Given the description of an element on the screen output the (x, y) to click on. 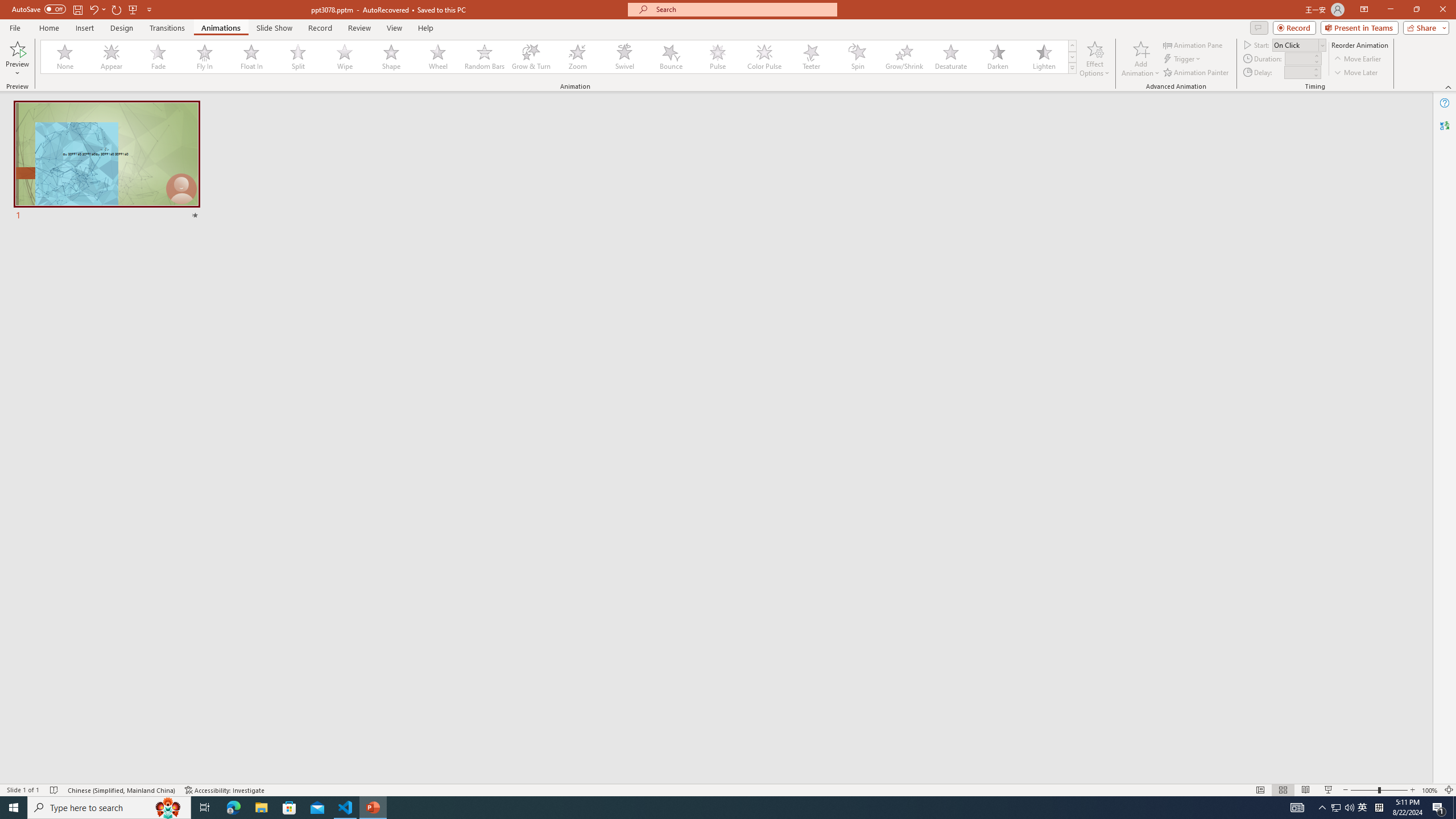
Trigger (1182, 58)
Desaturate (950, 56)
Grow/Shrink (903, 56)
Float In (251, 56)
